Given the description of an element on the screen output the (x, y) to click on. 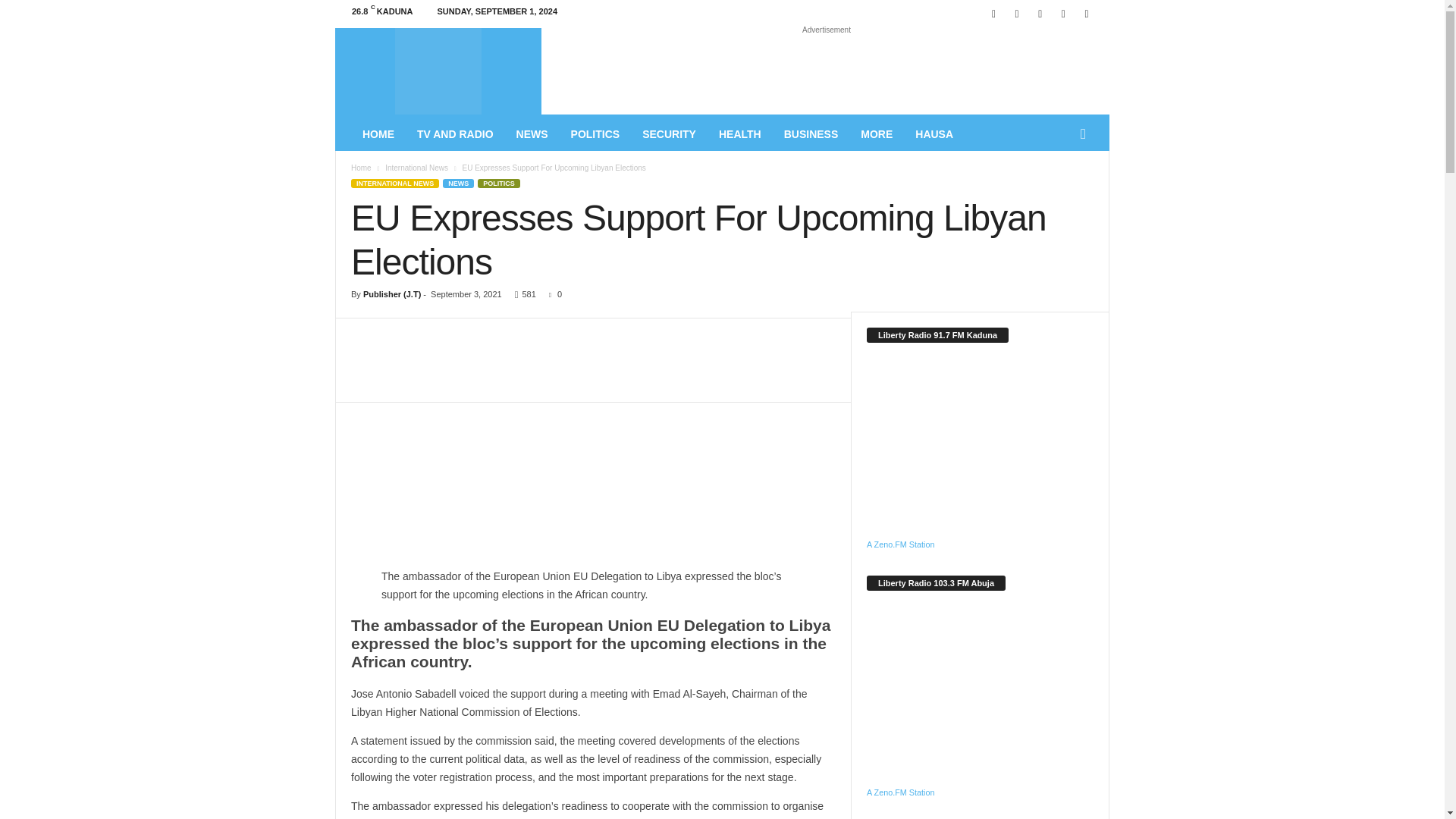
TV AND RADIO (455, 133)
NEWS (532, 133)
HOME (378, 133)
Liberty TV... Voice For All! (437, 70)
